Given the description of an element on the screen output the (x, y) to click on. 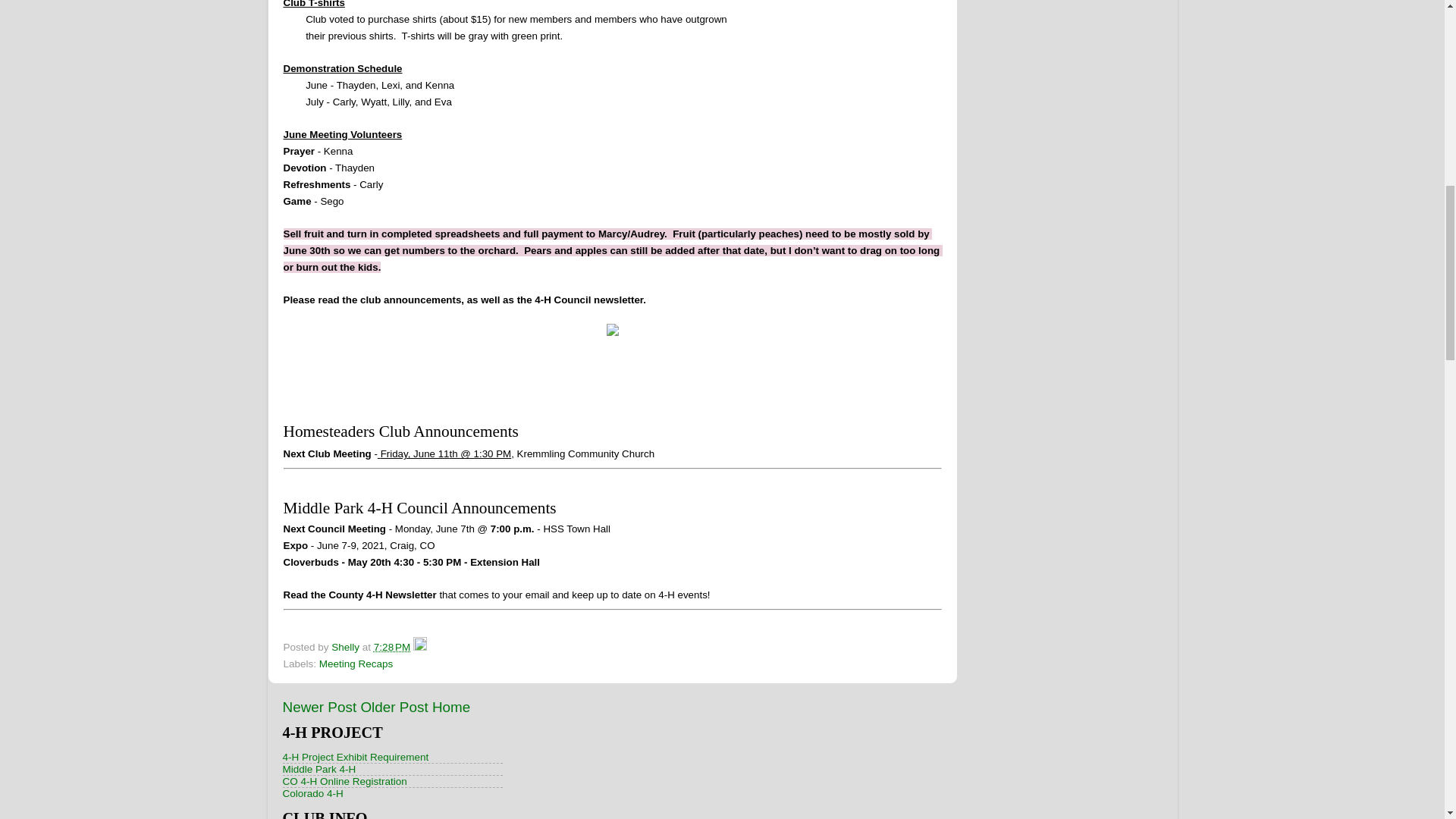
author profile (346, 646)
Middle Park 4-H (318, 768)
CO 4-H Online Registration (344, 781)
Home (451, 706)
Shelly (346, 646)
Older Post (393, 706)
Newer Post (319, 706)
Edit Post (419, 646)
Colorado 4-H (312, 793)
Newer Post (319, 706)
permanent link (392, 646)
Meeting Recaps (355, 663)
4-H Project Exhibit Requirement (355, 756)
Older Post (393, 706)
